Given the description of an element on the screen output the (x, y) to click on. 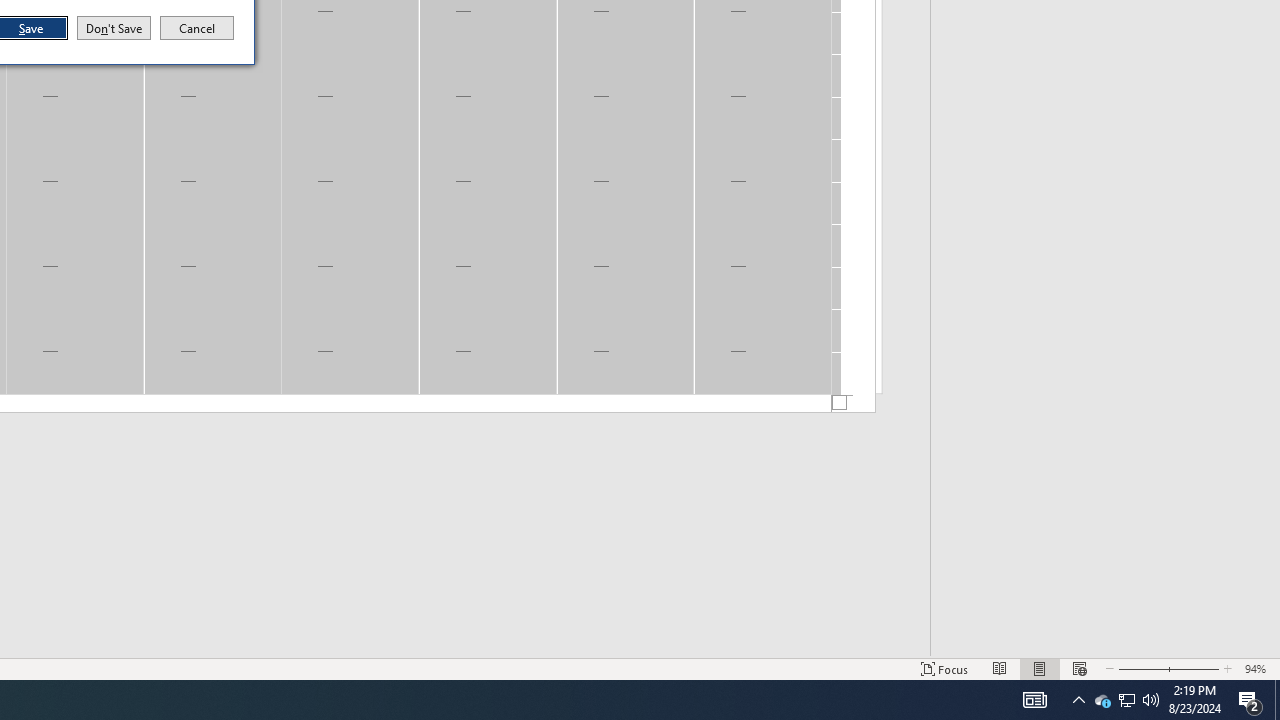
AutomationID: 4105 (1034, 699)
Read Mode (1000, 668)
Cancel (197, 27)
